Given the description of an element on the screen output the (x, y) to click on. 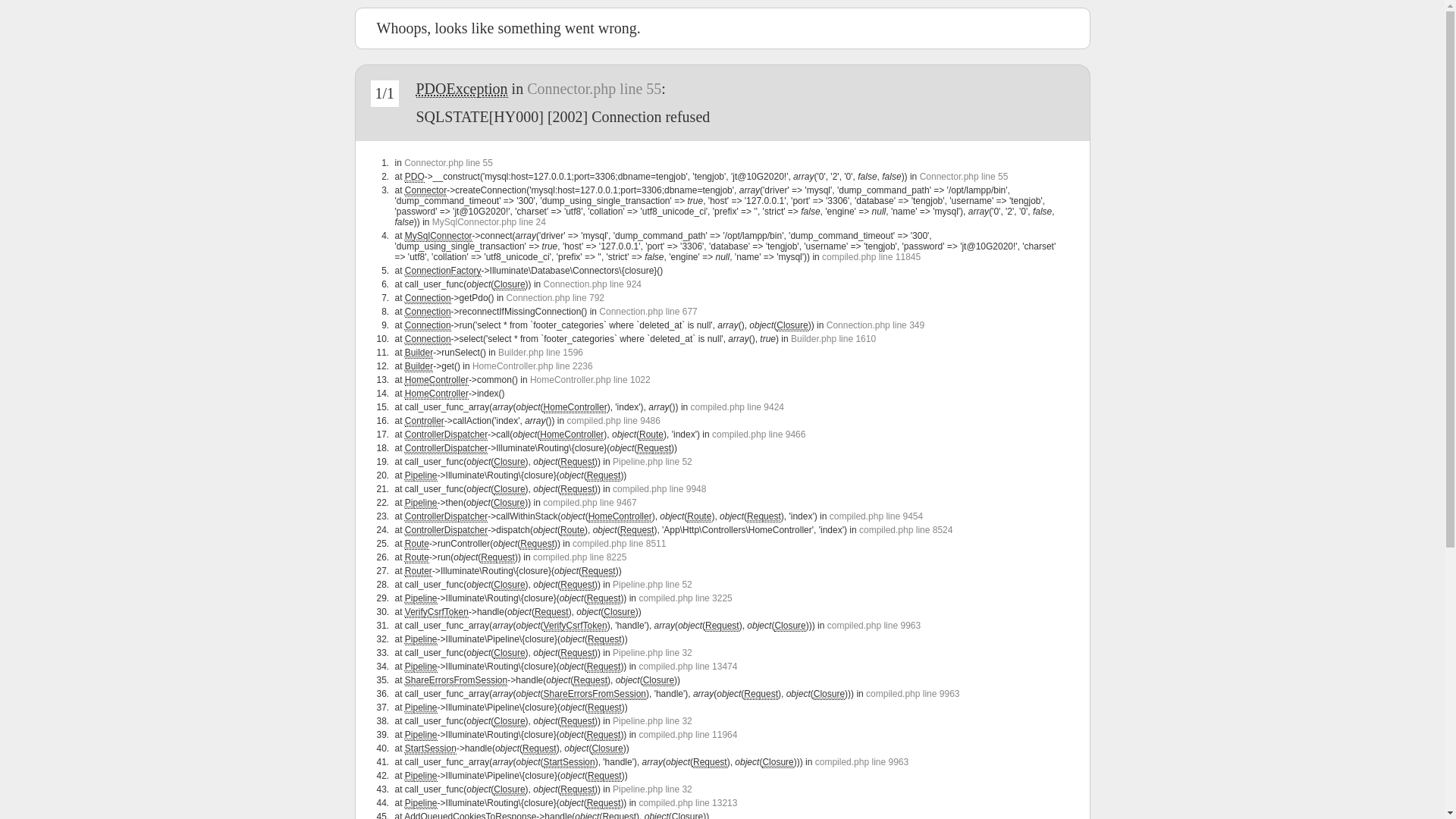
Connector.php line 55 Element type: text (963, 176)
HomeController.php line 1022 Element type: text (590, 379)
compiled.php line 9948 Element type: text (659, 488)
Pipeline.php line 52 Element type: text (652, 584)
Connection.php line 677 Element type: text (647, 311)
compiled.php line 13474 Element type: text (687, 666)
Connector.php line 55 Element type: text (594, 88)
MySqlConnector.php line 24 Element type: text (489, 221)
compiled.php line 9486 Element type: text (613, 420)
compiled.php line 9466 Element type: text (758, 434)
compiled.php line 8511 Element type: text (618, 543)
Pipeline.php line 52 Element type: text (652, 461)
Builder.php line 1596 Element type: text (540, 352)
compiled.php line 11845 Element type: text (871, 256)
compiled.php line 8225 Element type: text (579, 557)
compiled.php line 9963 Element type: text (861, 761)
Connector.php line 55 Element type: text (448, 162)
Pipeline.php line 32 Element type: text (652, 789)
Connection.php line 792 Element type: text (555, 297)
Connection.php line 349 Element type: text (875, 325)
compiled.php line 13213 Element type: text (687, 802)
compiled.php line 9454 Element type: text (875, 516)
Builder.php line 1610 Element type: text (832, 338)
compiled.php line 9467 Element type: text (589, 502)
compiled.php line 9963 Element type: text (912, 693)
Pipeline.php line 32 Element type: text (652, 720)
compiled.php line 11964 Element type: text (687, 734)
HomeController.php line 2236 Element type: text (532, 365)
compiled.php line 9963 Element type: text (873, 625)
Connection.php line 924 Element type: text (592, 284)
compiled.php line 3225 Element type: text (684, 598)
compiled.php line 9424 Element type: text (737, 406)
compiled.php line 8524 Element type: text (905, 529)
Pipeline.php line 32 Element type: text (652, 652)
